Given the description of an element on the screen output the (x, y) to click on. 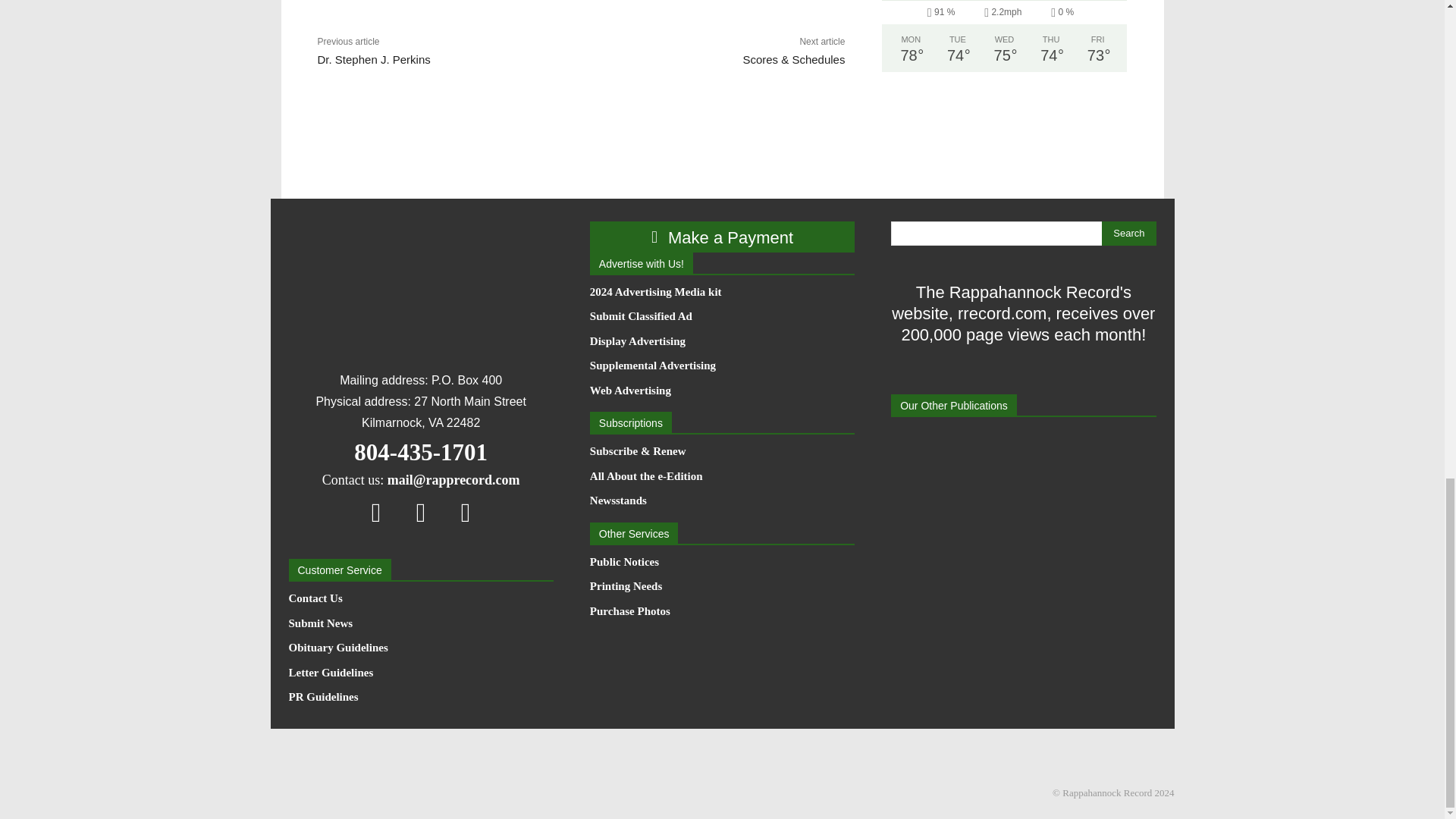
2024 Advertising Media kit (721, 292)
Instagram (421, 511)
PR Guidelines (420, 697)
Submit News (420, 623)
Twitter (465, 511)
Facebook (376, 511)
Letter Guidelines (420, 672)
Contact Us (420, 598)
Make a Payment (721, 236)
Make a Payment (721, 236)
